Given the description of an element on the screen output the (x, y) to click on. 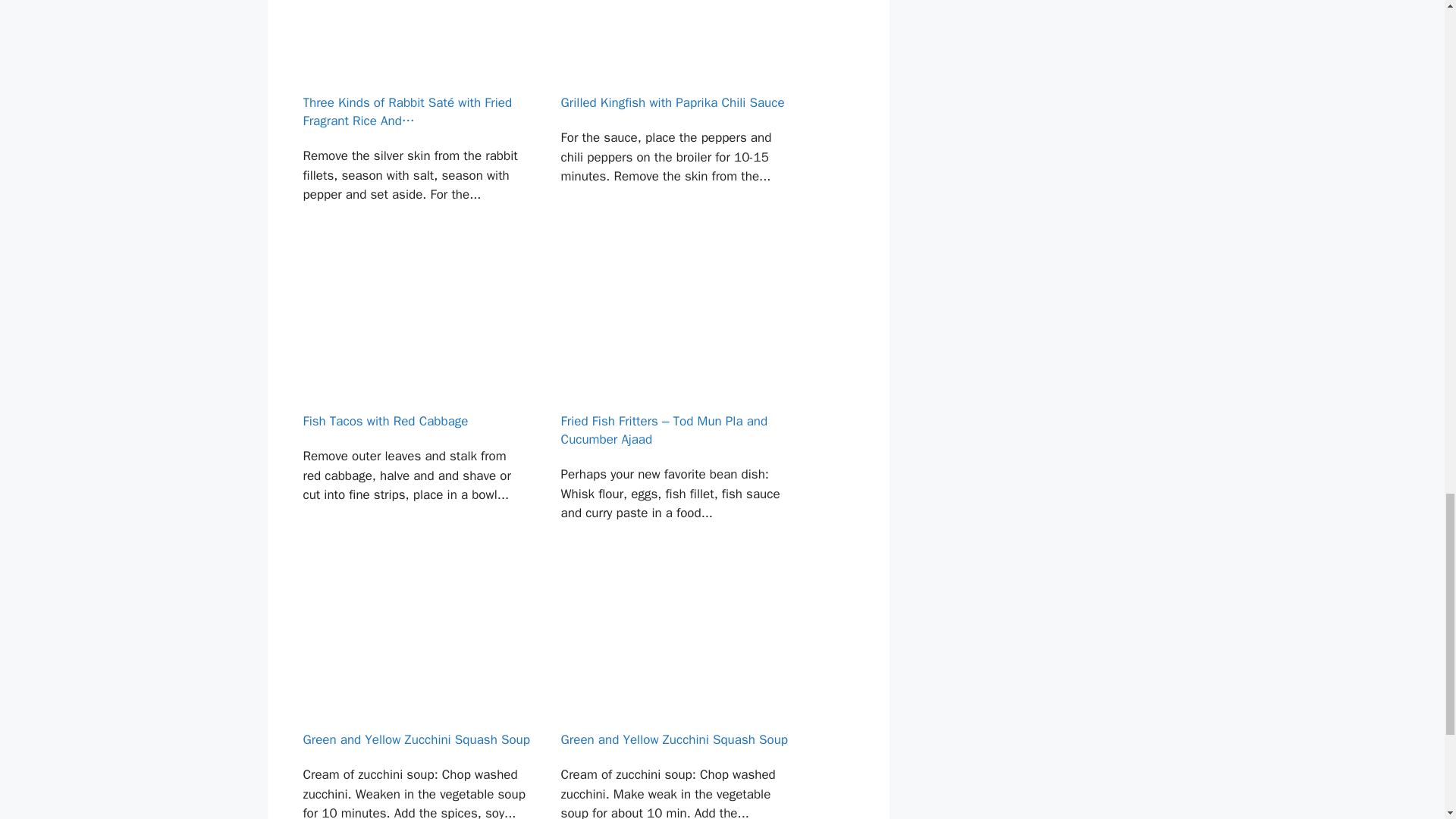
Green and Yellow Zucchini Squash Soup (673, 691)
Green and Yellow Zucchini Squash Soup (414, 691)
Grilled Kingfish with Paprika Chili Sauce (673, 119)
